Given the description of an element on the screen output the (x, y) to click on. 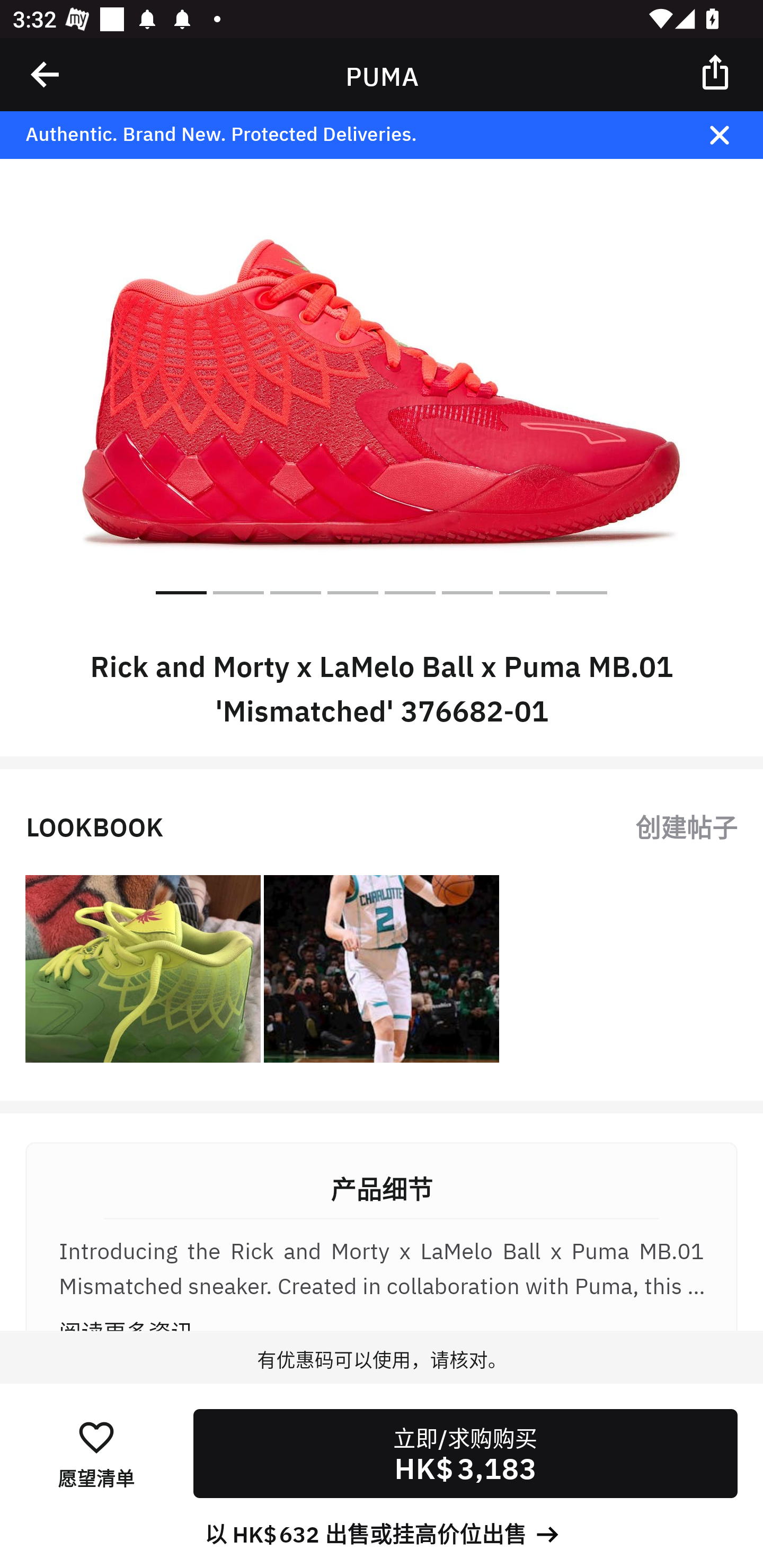
 (46, 74)
 (716, 70)
Authentic. Brand New. Protected Deliveries. (350, 134)
 (732, 134)
创建帖子 (685, 825)
有优惠码可以使用，请核对。 (381, 1377)
立即/求购购买 HK$ 3,183 (465, 1453)
󰋕 (95, 1435)
以 HK$ 632 出售或挂高价位出售 (381, 1532)
